Given the description of an element on the screen output the (x, y) to click on. 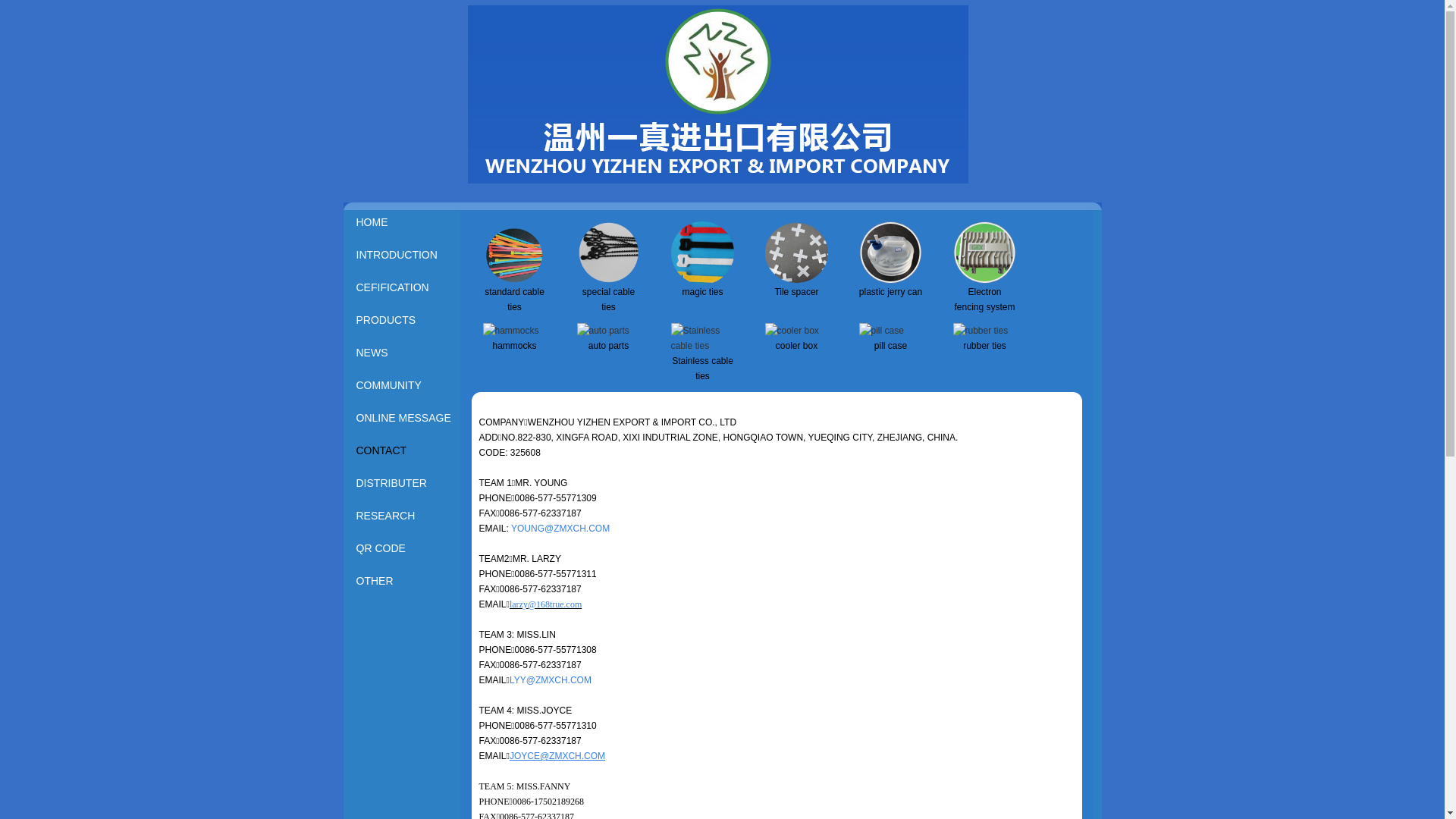
auto parts Element type: text (608, 345)
Electron fencing system Element type: text (983, 299)
special cable ties Element type: text (608, 299)
Stainless cable ties Element type: hover (702, 345)
rubber ties Element type: text (984, 345)
QR CODE Element type: text (404, 548)
magic ties Element type: hover (701, 281)
CONTACT Element type: text (404, 450)
cooler box Element type: text (796, 345)
plastic jerry can Element type: text (890, 291)
standard cable ties Element type: text (514, 299)
INTRODUCTION Element type: text (404, 254)
WENZHOU YIZHEN EXPORT & IMPORT CO., LTD Element type: hover (717, 180)
LYY@ZMXCH.COM Element type: text (550, 679)
plastic jerry can Element type: hover (889, 281)
rubber ties Element type: hover (979, 330)
magic ties Element type: text (701, 291)
COMMUNITY Element type: text (404, 385)
HOME Element type: text (404, 222)
auto parts Element type: hover (602, 330)
pill case Element type: hover (880, 330)
RESEARCH Element type: text (404, 515)
pill case Element type: text (890, 345)
Tile spacer Element type: hover (795, 281)
CEFIFICATION Element type: text (404, 287)
NEWS Element type: text (404, 352)
YOUNG@ZMXCH.COM Element type: text (560, 528)
special cable ties Element type: hover (607, 281)
cooler box Element type: hover (791, 330)
Electron fencing system Element type: hover (983, 281)
DISTRIBUTER Element type: text (404, 482)
Tile spacer Element type: text (796, 291)
hammocks Element type: text (514, 345)
ONLINE MESSAGE Element type: text (404, 417)
PRODUCTS Element type: text (404, 319)
standard cable ties Element type: hover (513, 281)
hammocks Element type: hover (510, 330)
Stainless cable ties Element type: text (702, 368)
JOYCE@ZMXCH.COM Element type: text (557, 755)
OTHER Element type: text (404, 580)
